Given the description of an element on the screen output the (x, y) to click on. 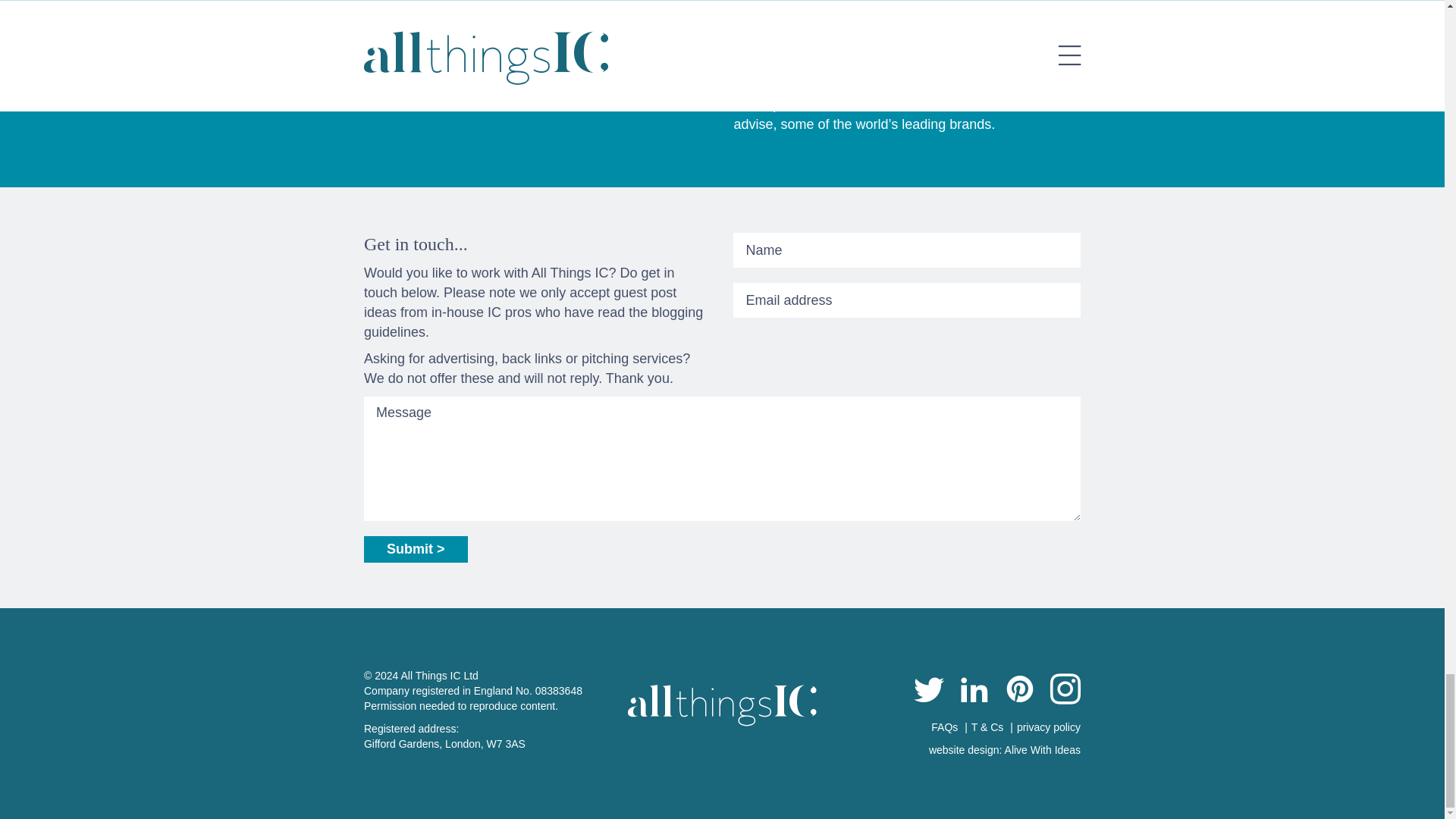
All Things IC on Twitter (928, 691)
All Things IC on Instagram (1064, 691)
All Things IC on Linkedin (974, 691)
All Things IC on Pinterest (1019, 691)
